Given the description of an element on the screen output the (x, y) to click on. 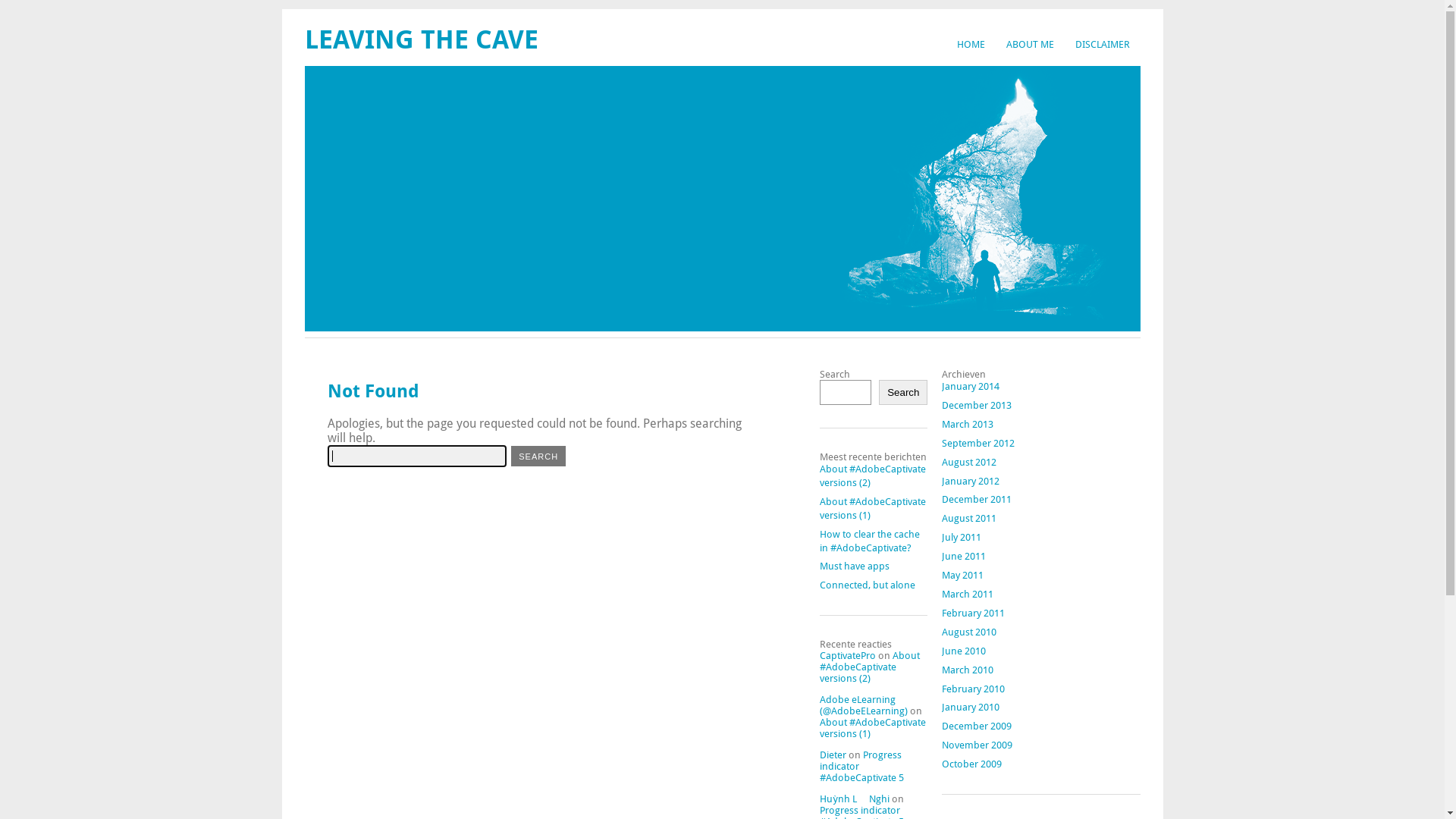
DISCLAIMER Element type: text (1102, 43)
ABOUT ME Element type: text (1028, 43)
February 2010 Element type: text (972, 687)
March 2010 Element type: text (967, 669)
March 2011 Element type: text (967, 593)
November 2009 Element type: text (976, 744)
LEAVING THE CAVE Element type: text (421, 39)
How to clear the cache in #AdobeCaptivate? Element type: text (869, 540)
October 2009 Element type: text (971, 763)
December 2013 Element type: text (976, 405)
January 2010 Element type: text (970, 706)
February 2011 Element type: text (972, 612)
Search Element type: text (902, 391)
August 2010 Element type: text (968, 631)
HOME Element type: text (970, 43)
May 2011 Element type: text (962, 574)
August 2012 Element type: text (968, 461)
About #AdobeCaptivate versions (1) Element type: text (872, 727)
June 2010 Element type: text (963, 650)
Progress indicator #AdobeCaptivate 5 Element type: text (861, 766)
December 2009 Element type: text (976, 725)
January 2014 Element type: text (970, 386)
Adobe eLearning (@AdobeELearning) Element type: text (863, 704)
September 2012 Element type: text (977, 442)
July 2011 Element type: text (961, 536)
Search Element type: text (538, 455)
CaptivatePro Element type: text (847, 655)
Connected, but alone Element type: text (867, 584)
January 2012 Element type: text (970, 480)
June 2011 Element type: text (963, 555)
March 2013 Element type: text (967, 423)
August 2011 Element type: text (968, 518)
About #AdobeCaptivate versions (1) Element type: text (872, 507)
Must have apps Element type: text (854, 565)
About #AdobeCaptivate versions (2) Element type: text (872, 475)
About #AdobeCaptivate versions (2) Element type: text (869, 666)
December 2011 Element type: text (976, 499)
Dieter Element type: text (832, 754)
